Given the description of an element on the screen output the (x, y) to click on. 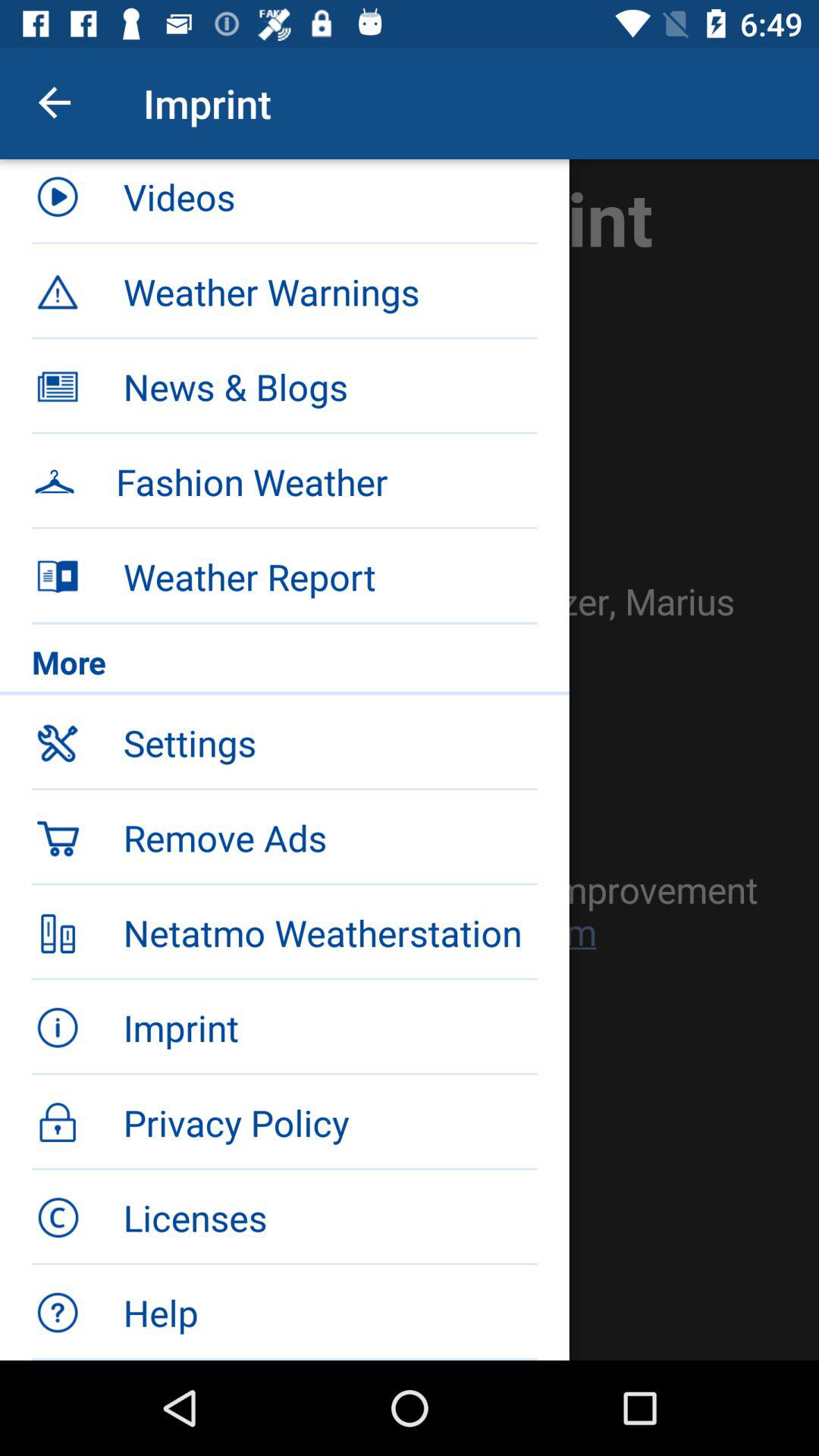
jump to the settings item (330, 742)
